Given the description of an element on the screen output the (x, y) to click on. 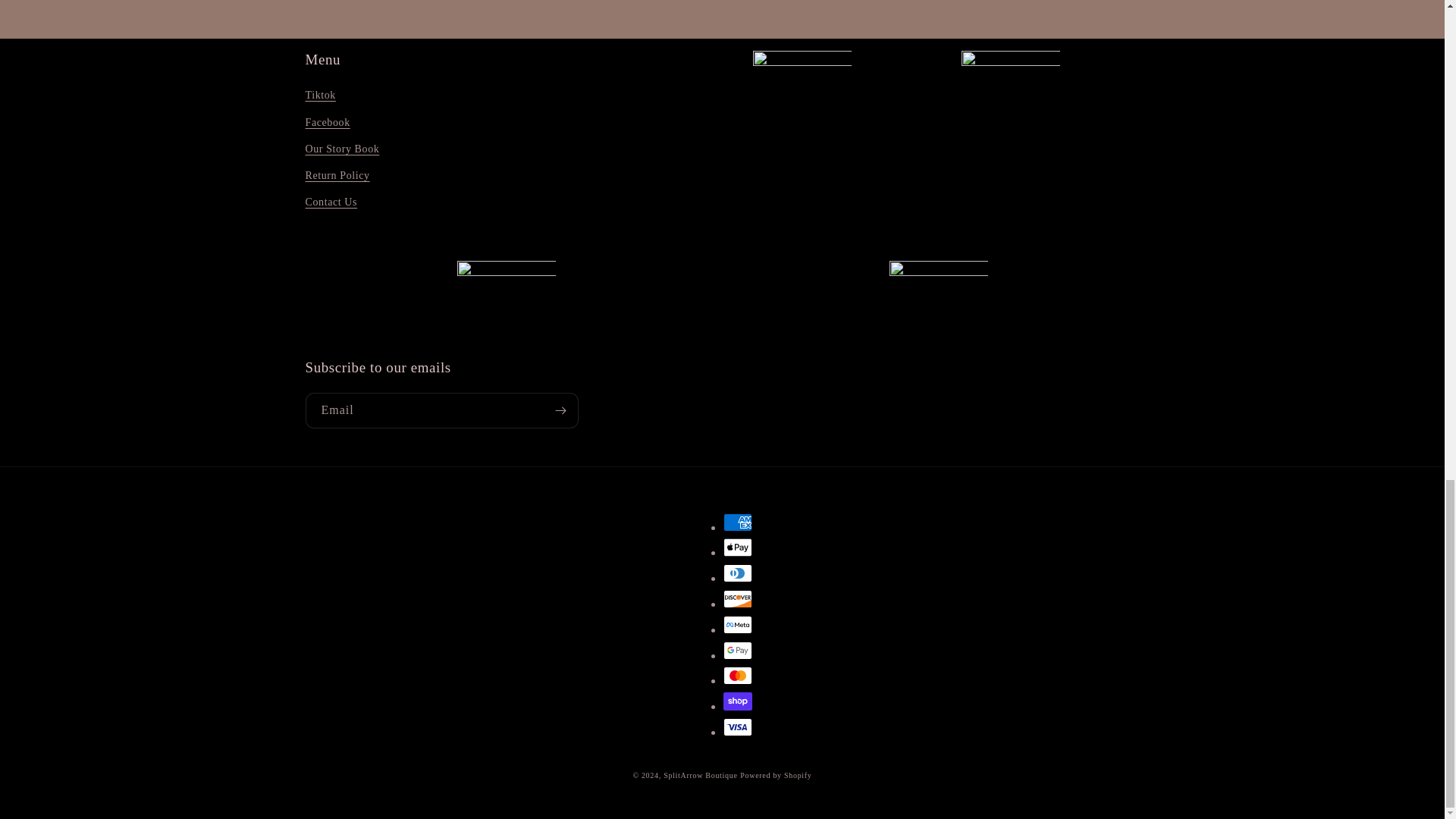
Meta Pay (737, 624)
Discover (737, 598)
Diners Club (737, 573)
Apple Pay (737, 547)
American Express (737, 522)
